Given the description of an element on the screen output the (x, y) to click on. 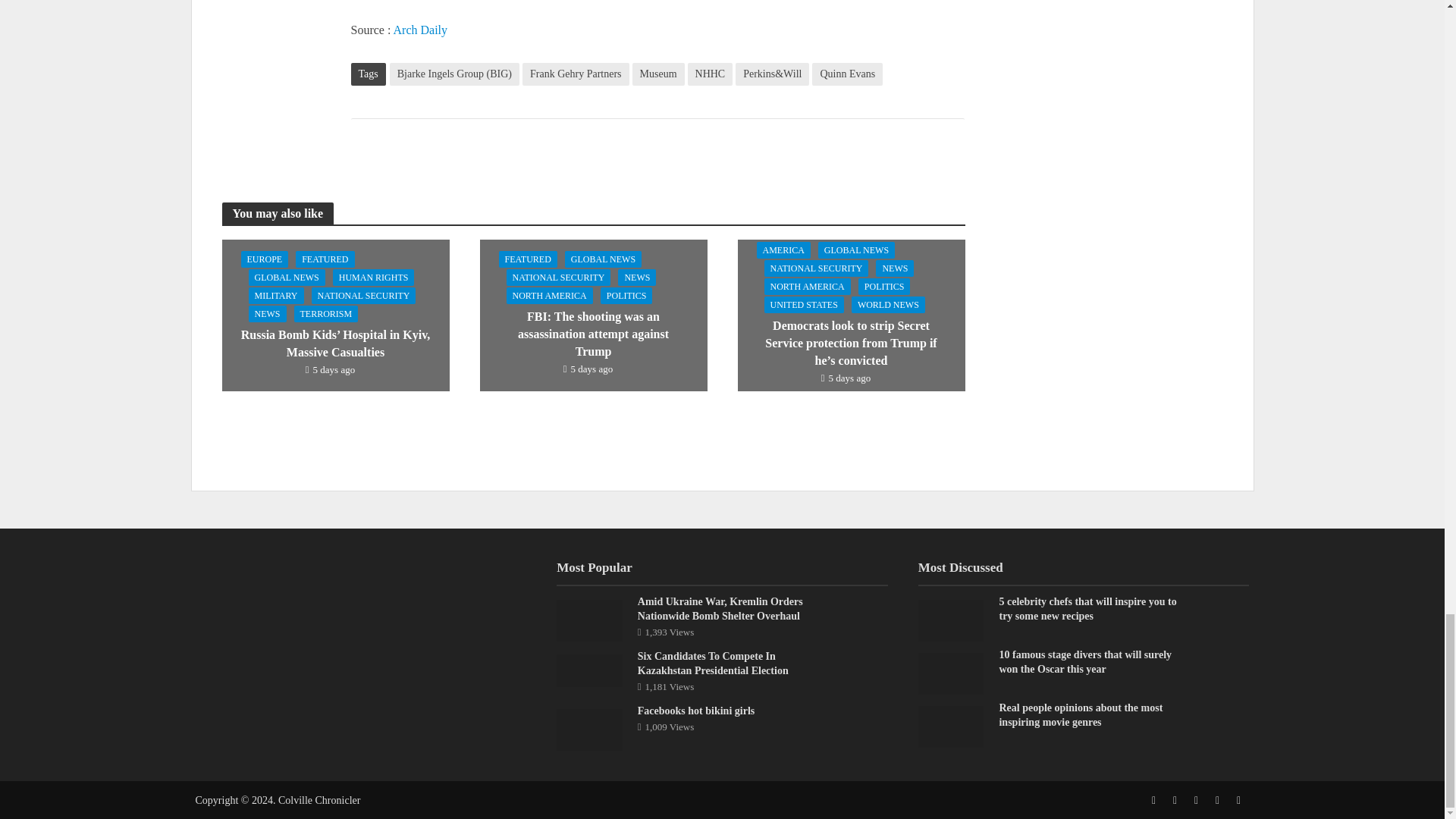
FBI: The shooting was an assassination attempt against Trump (592, 313)
